Given the description of an element on the screen output the (x, y) to click on. 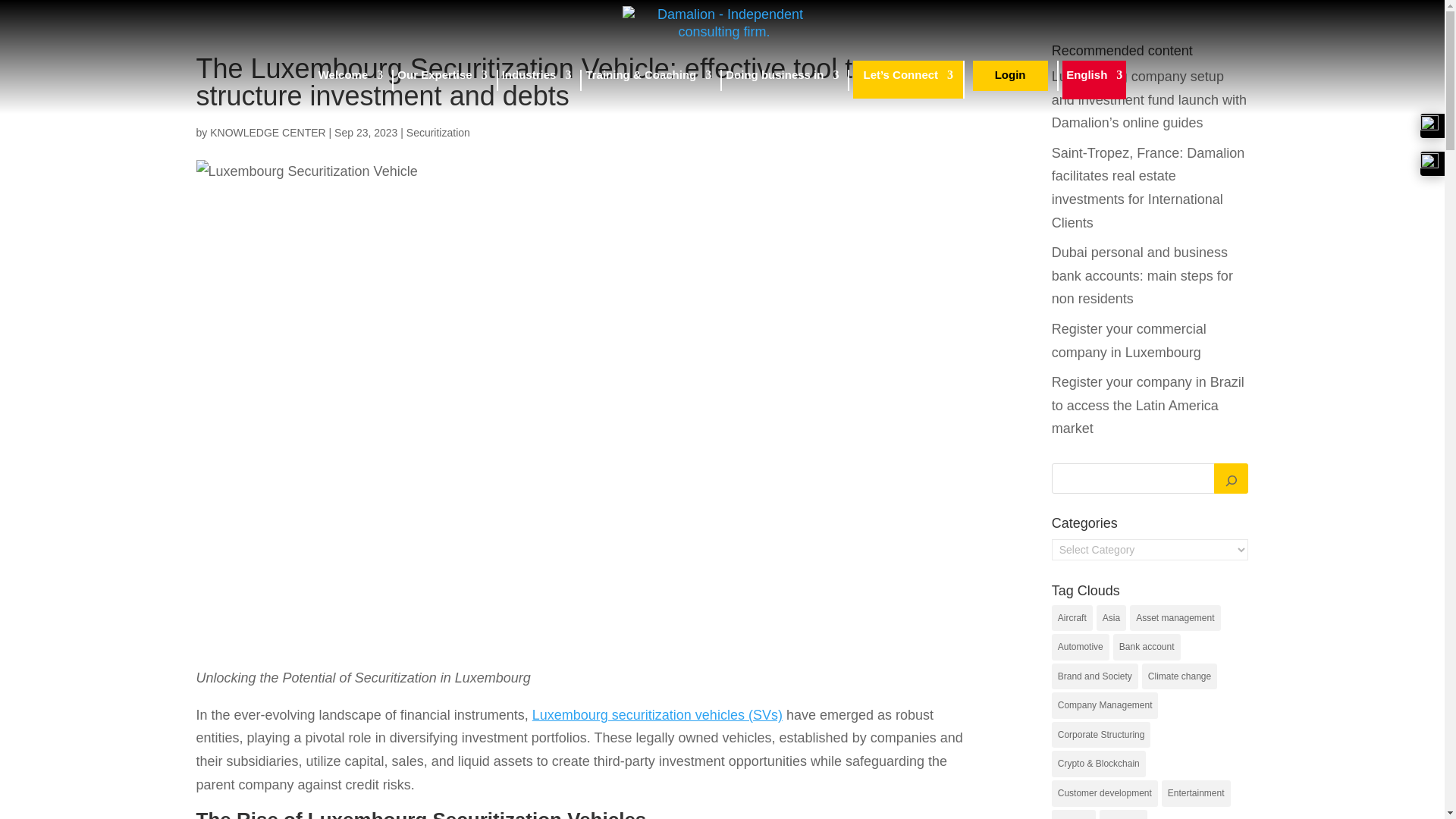
Our Expertise (441, 79)
English (1093, 79)
Welcome (351, 79)
